Given the description of an element on the screen output the (x, y) to click on. 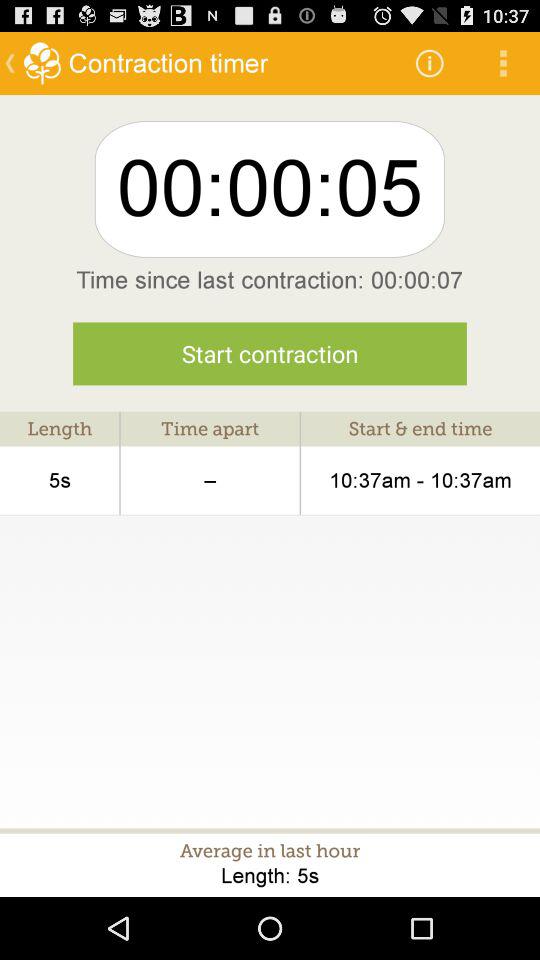
press item above 00:00:05 icon (429, 62)
